Given the description of an element on the screen output the (x, y) to click on. 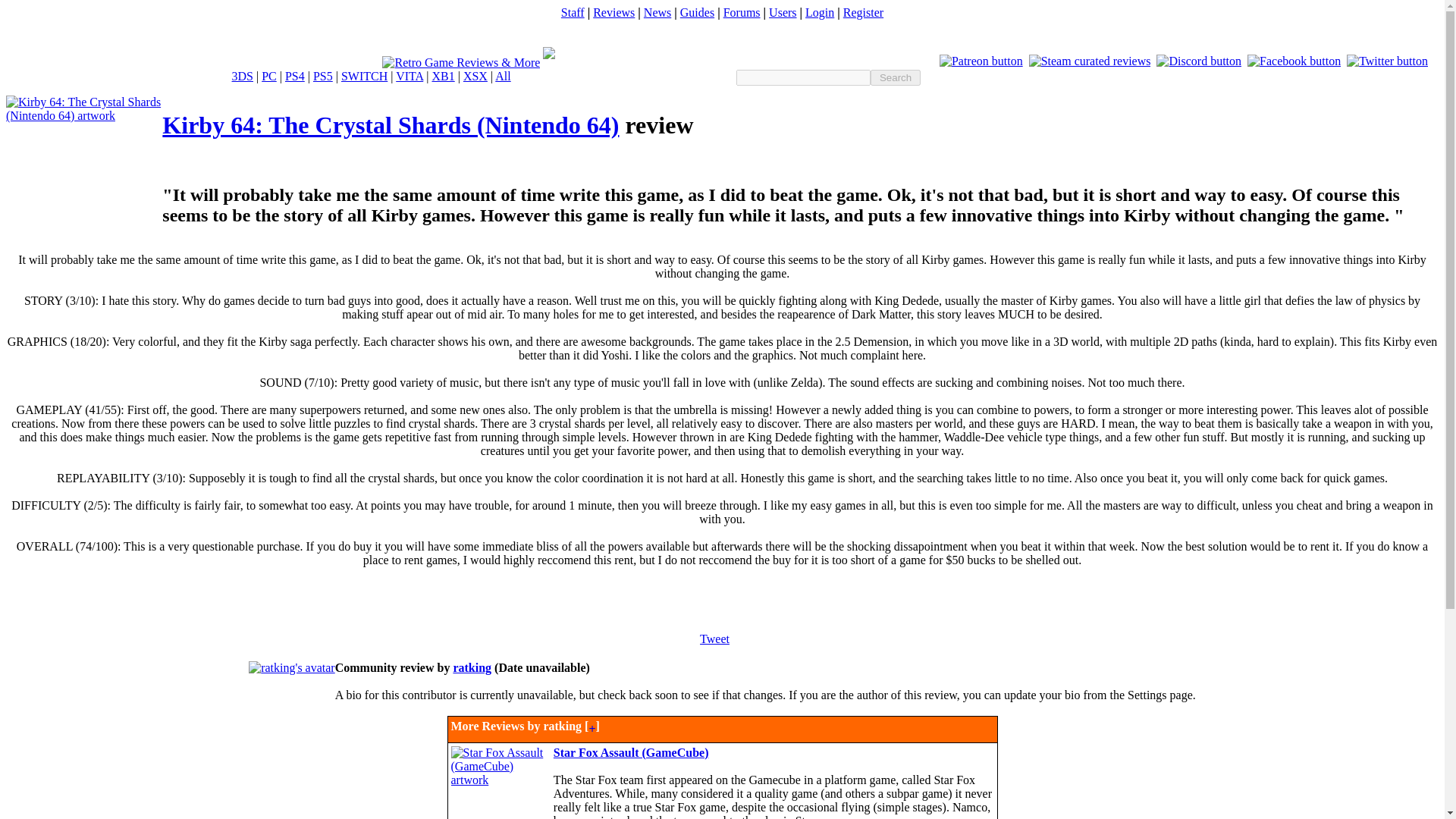
Tweet (714, 638)
Information about site staff and openings (572, 11)
Get to know us on the HonestGamers Discord server (1198, 60)
Guides (696, 11)
HonestGamers on Facebook (1293, 60)
 Search  (895, 77)
Staff (572, 11)
News (657, 11)
XSX (475, 75)
XB1 (442, 75)
